Given the description of an element on the screen output the (x, y) to click on. 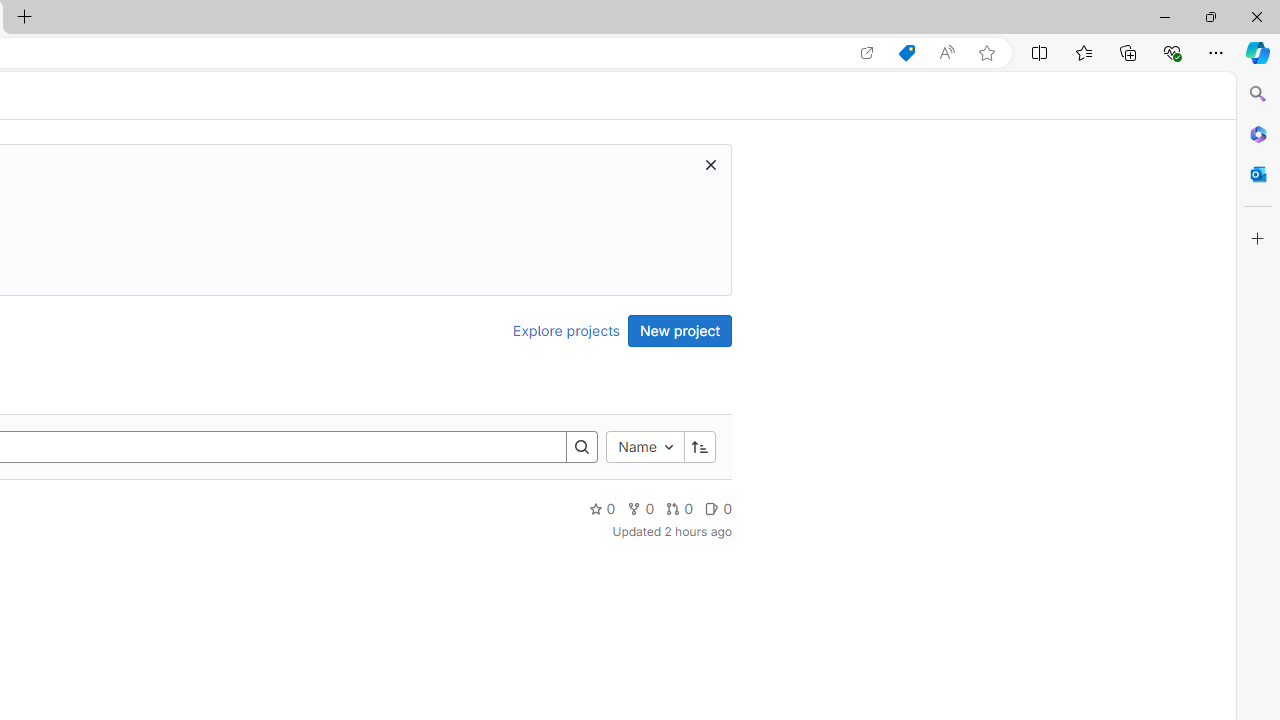
Name (644, 445)
Sort direction: Ascending (699, 445)
Class: s14 gl-mr-2 (712, 508)
Dismiss trial promotion (710, 164)
